Given the description of an element on the screen output the (x, y) to click on. 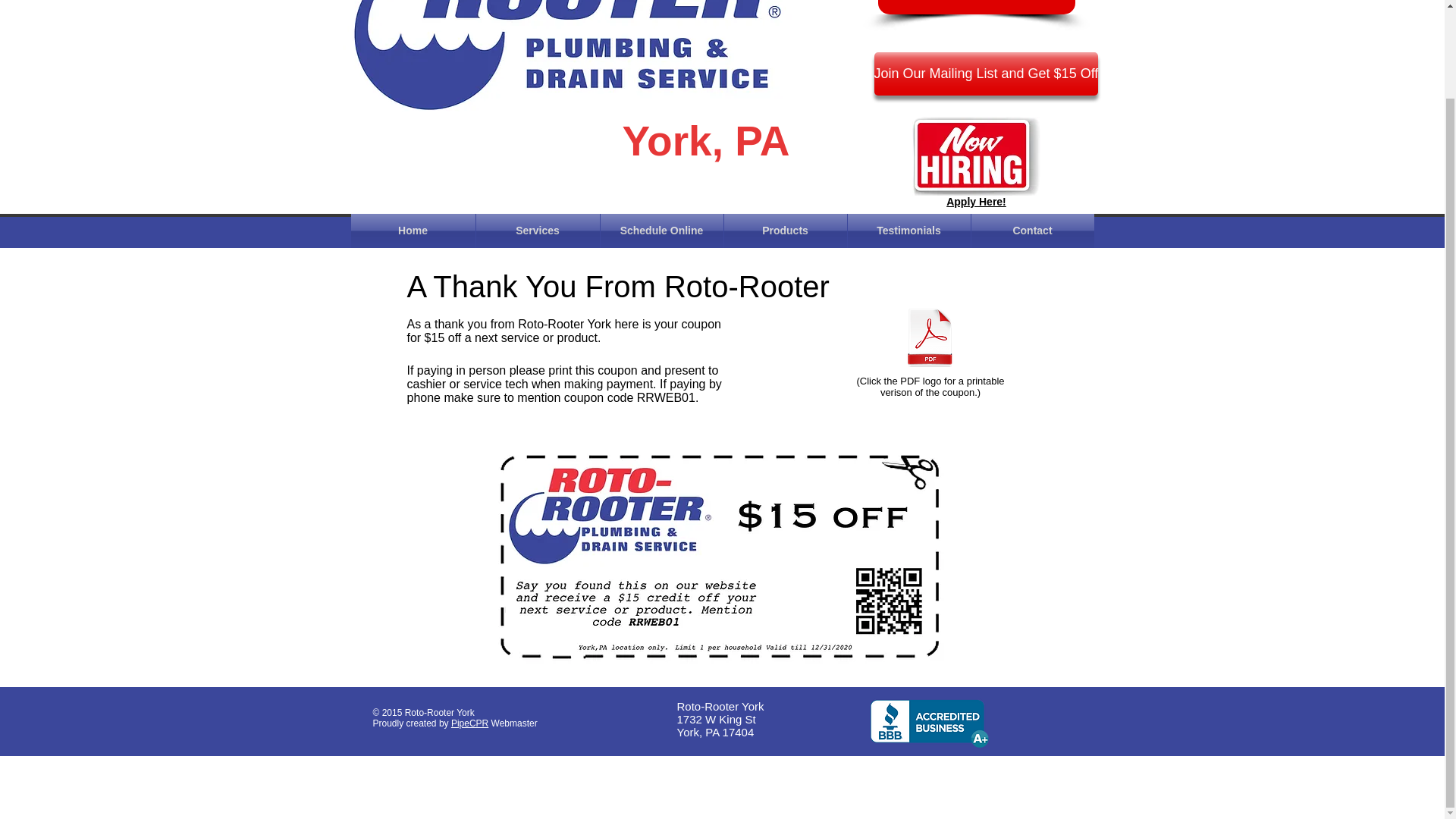
Home (412, 230)
Schedule Online (661, 230)
roto cert.pdf (929, 339)
PipeCPR (469, 723)
Services (537, 230)
Apply Here! (976, 201)
Better Business Bureau (929, 722)
roto page cert.jpg (722, 554)
Testimonials (909, 230)
Contact (1032, 230)
